Given the description of an element on the screen output the (x, y) to click on. 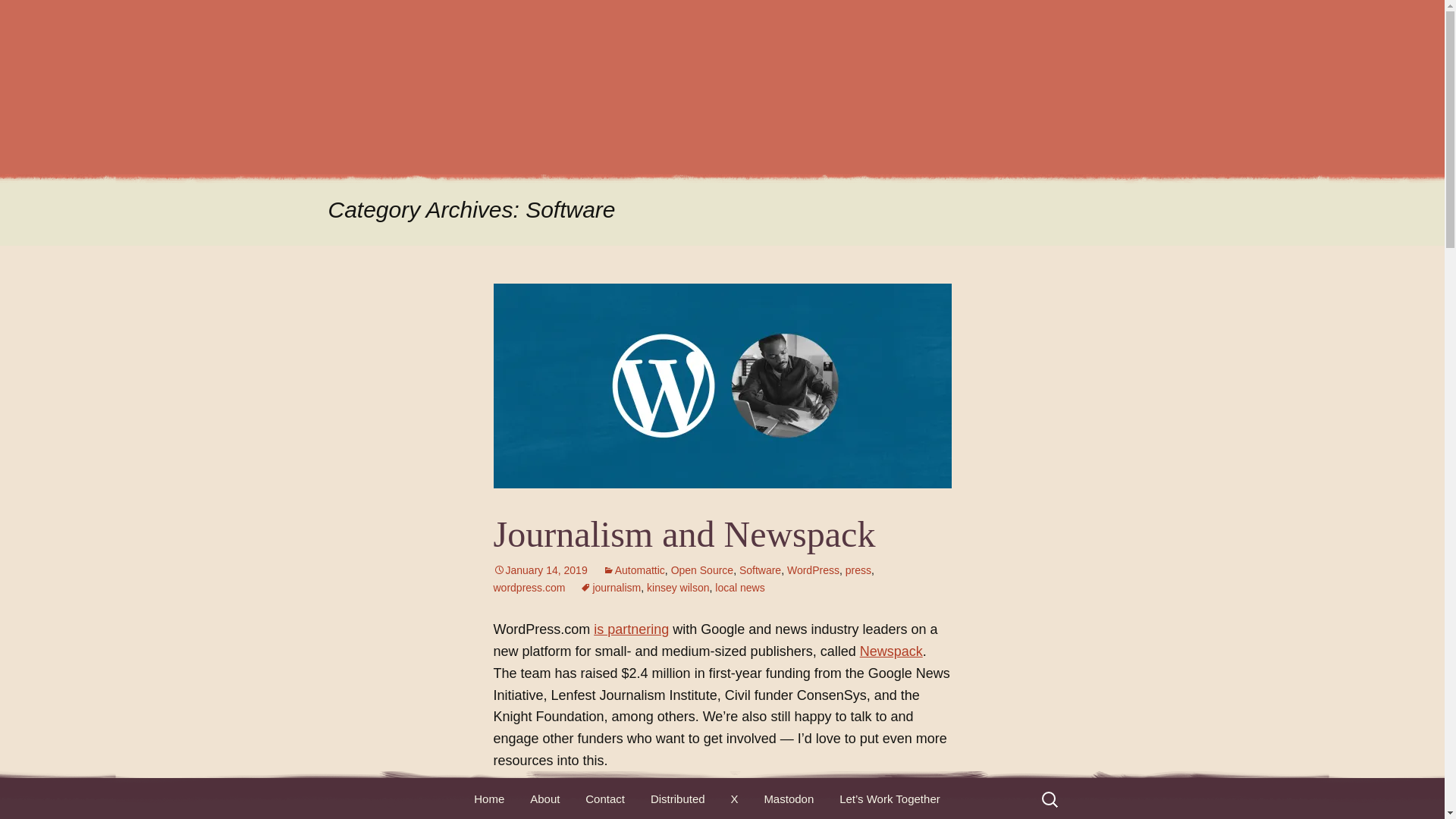
January 14, 2019 (539, 570)
Distributed (677, 798)
Matt Mullenweg (721, 87)
wordpress.com (528, 587)
About (544, 798)
Contact (604, 798)
local news (739, 587)
Automattic (633, 570)
Open Source (702, 570)
journalism (609, 587)
Journalism and Newspack (684, 534)
Newspack (891, 651)
kinsey wilson (677, 587)
is partnering (631, 629)
